Given the description of an element on the screen output the (x, y) to click on. 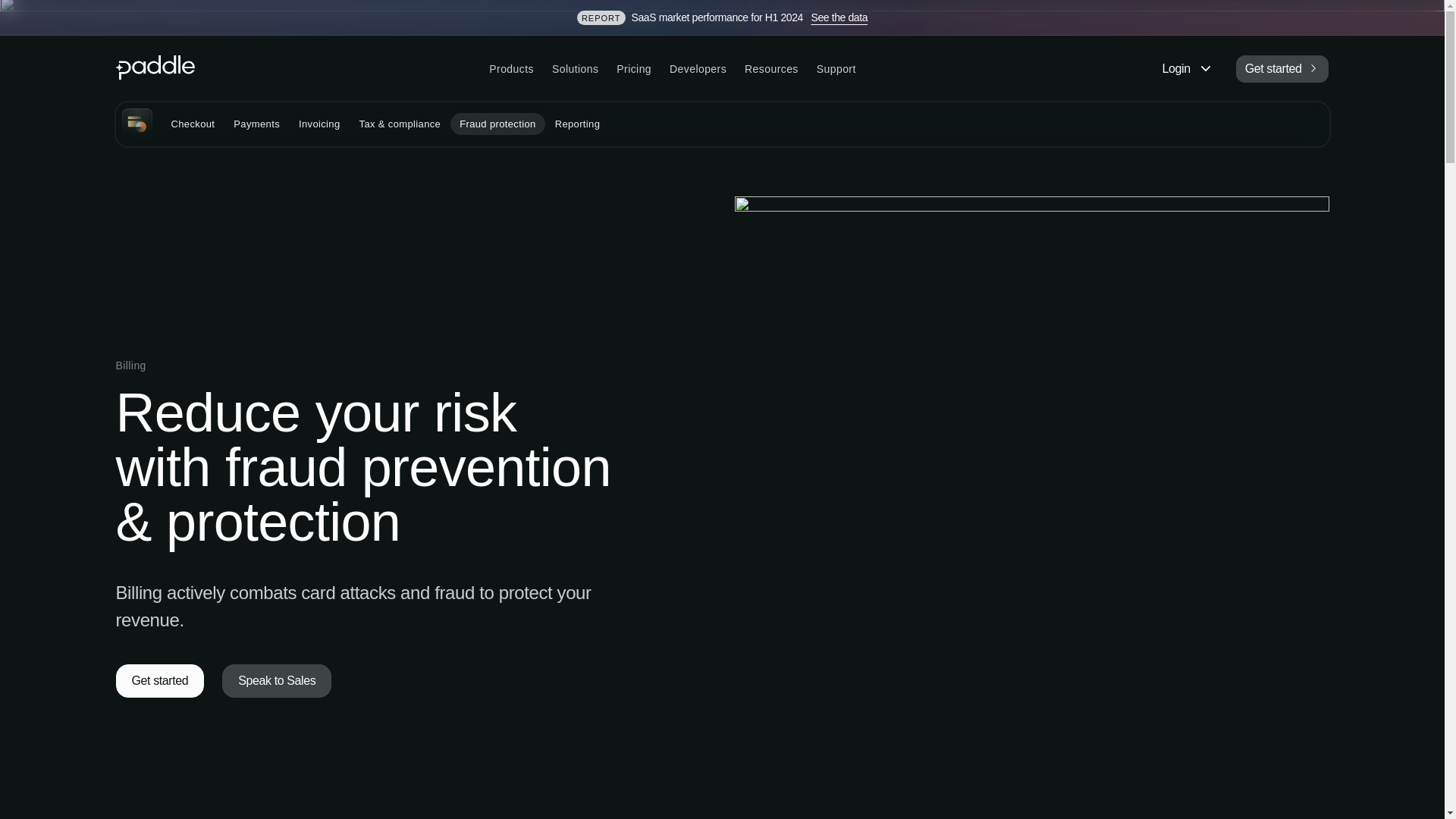
See the data (838, 17)
Pricing (634, 69)
Paddle Billing (135, 123)
See the data (838, 17)
